Given the description of an element on the screen output the (x, y) to click on. 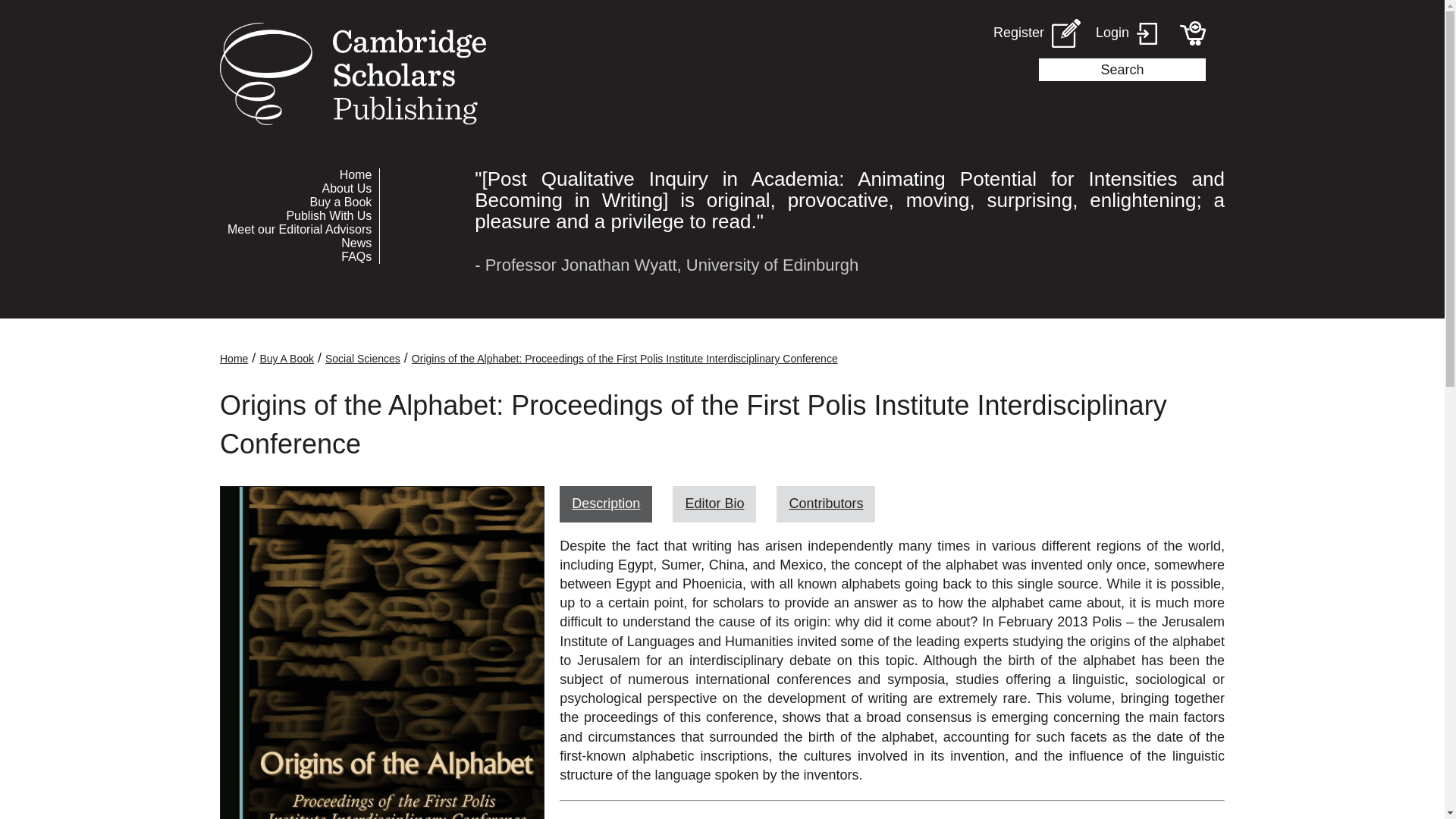
Home (233, 358)
About Us (298, 188)
Register (1036, 32)
Meet our Editorial Advisors (298, 229)
News (298, 243)
Home (298, 174)
Publish With Us (298, 215)
Login (1126, 33)
Buy a Book (298, 202)
FAQs (298, 256)
